Given the description of an element on the screen output the (x, y) to click on. 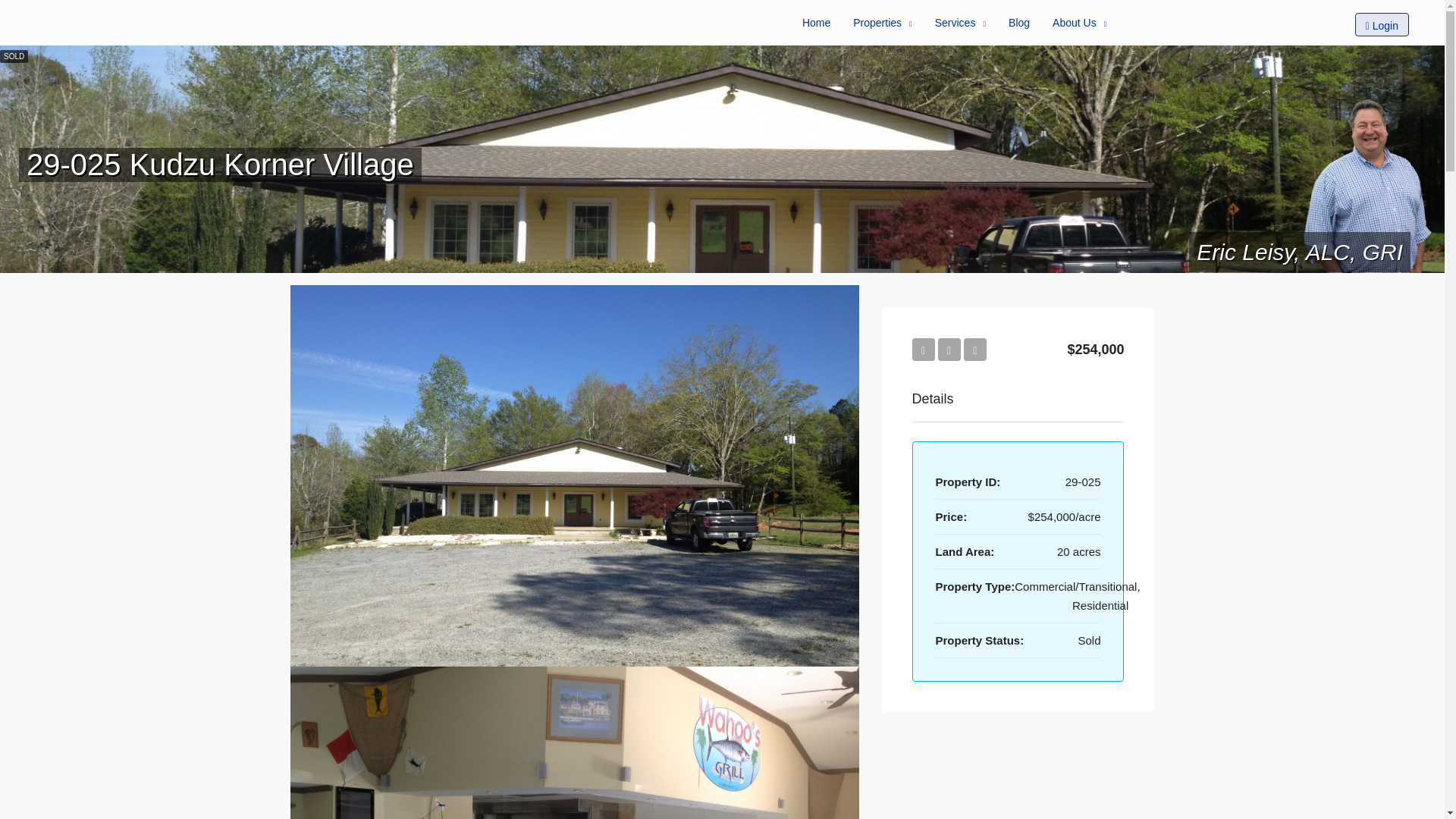
Home (815, 22)
Properties (882, 23)
Services (960, 23)
